Given the description of an element on the screen output the (x, y) to click on. 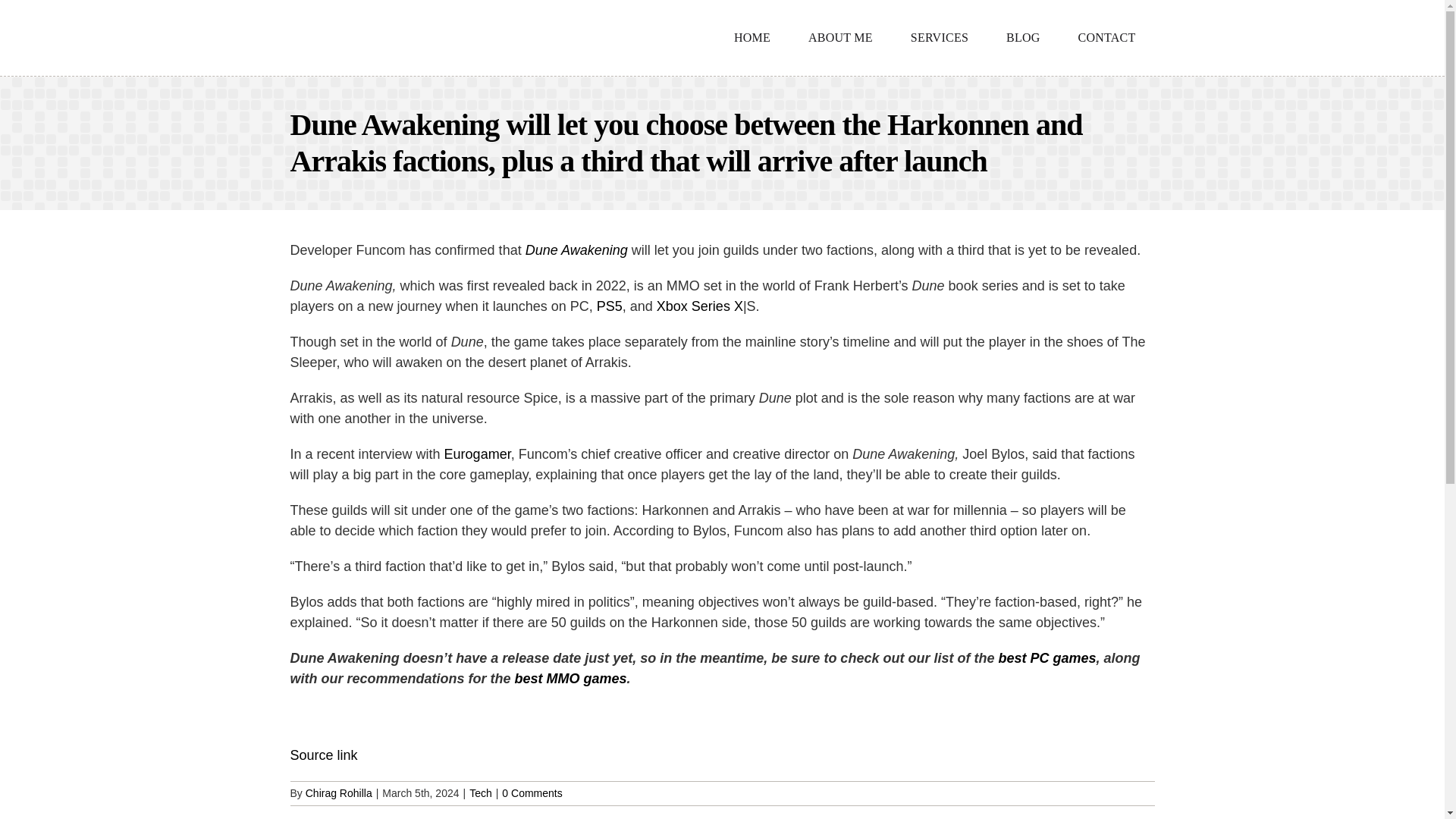
0 Comments (532, 793)
Chirag Rohilla (338, 793)
Eurogamer (477, 453)
Source link (322, 754)
Xbox Series X (699, 305)
Tech (480, 793)
SERVICES (939, 38)
Dune Awakening (576, 249)
PS5 (609, 305)
